Given the description of an element on the screen output the (x, y) to click on. 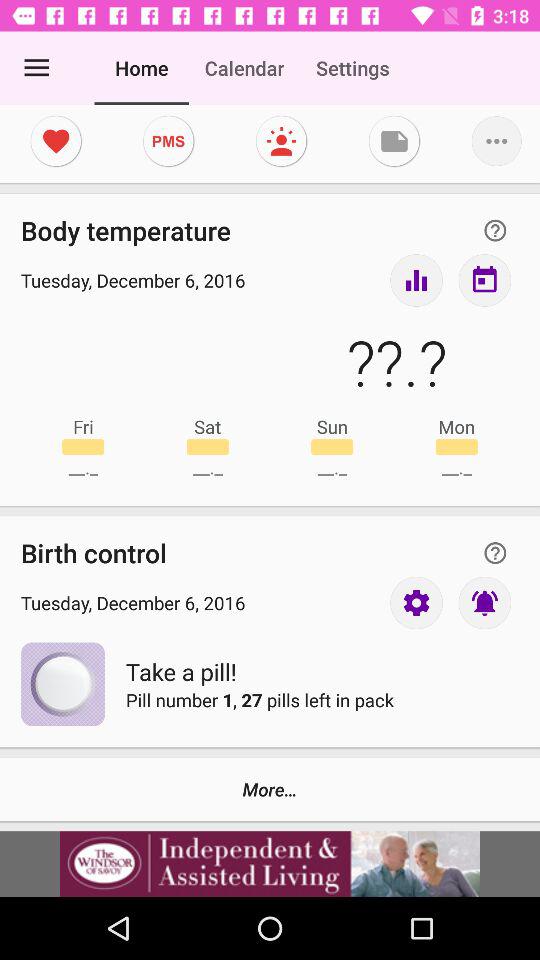
pms button (168, 141)
